Given the description of an element on the screen output the (x, y) to click on. 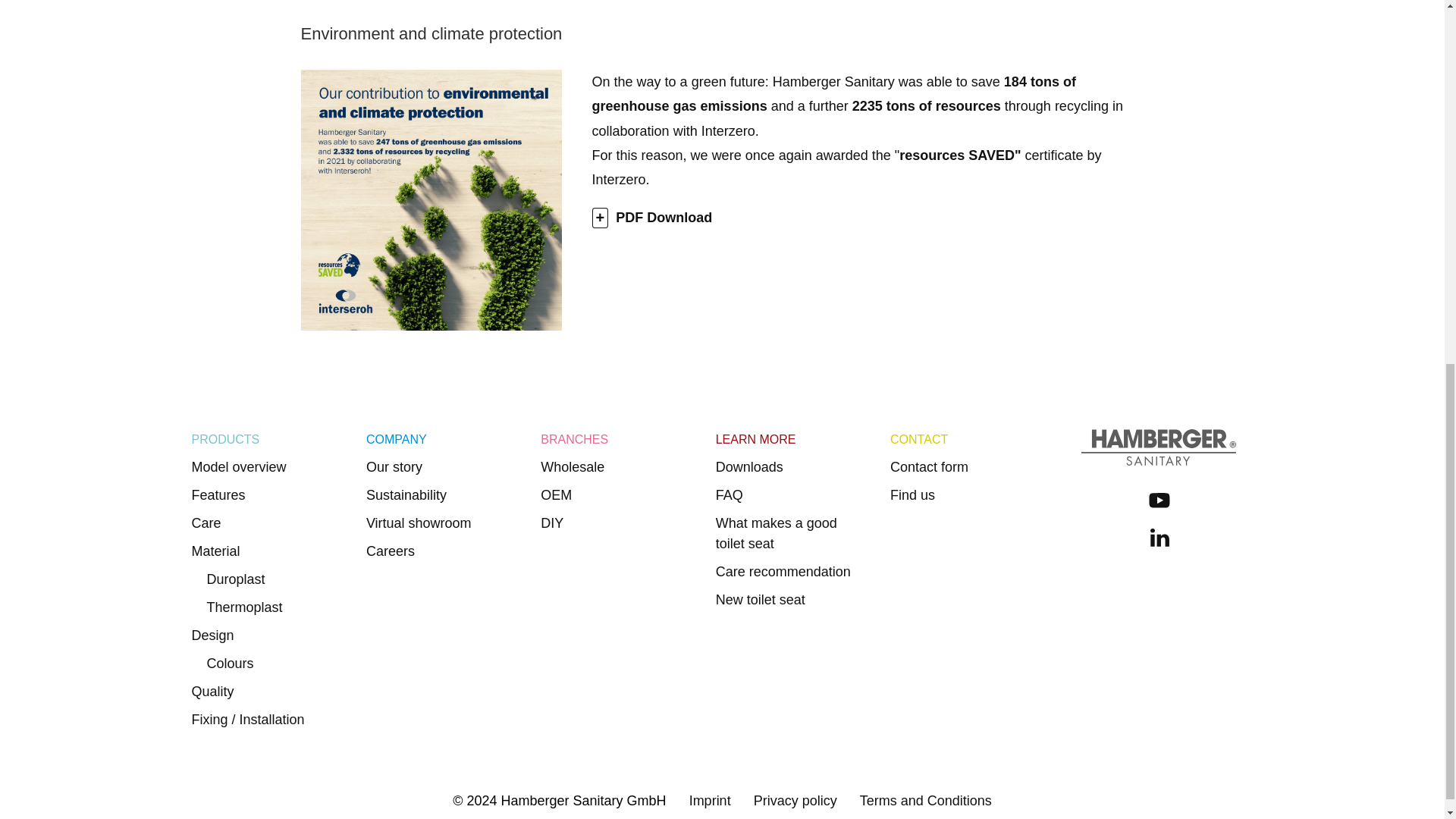
Environment and climate protection (705, 33)
PDF Download (652, 218)
